Given the description of an element on the screen output the (x, y) to click on. 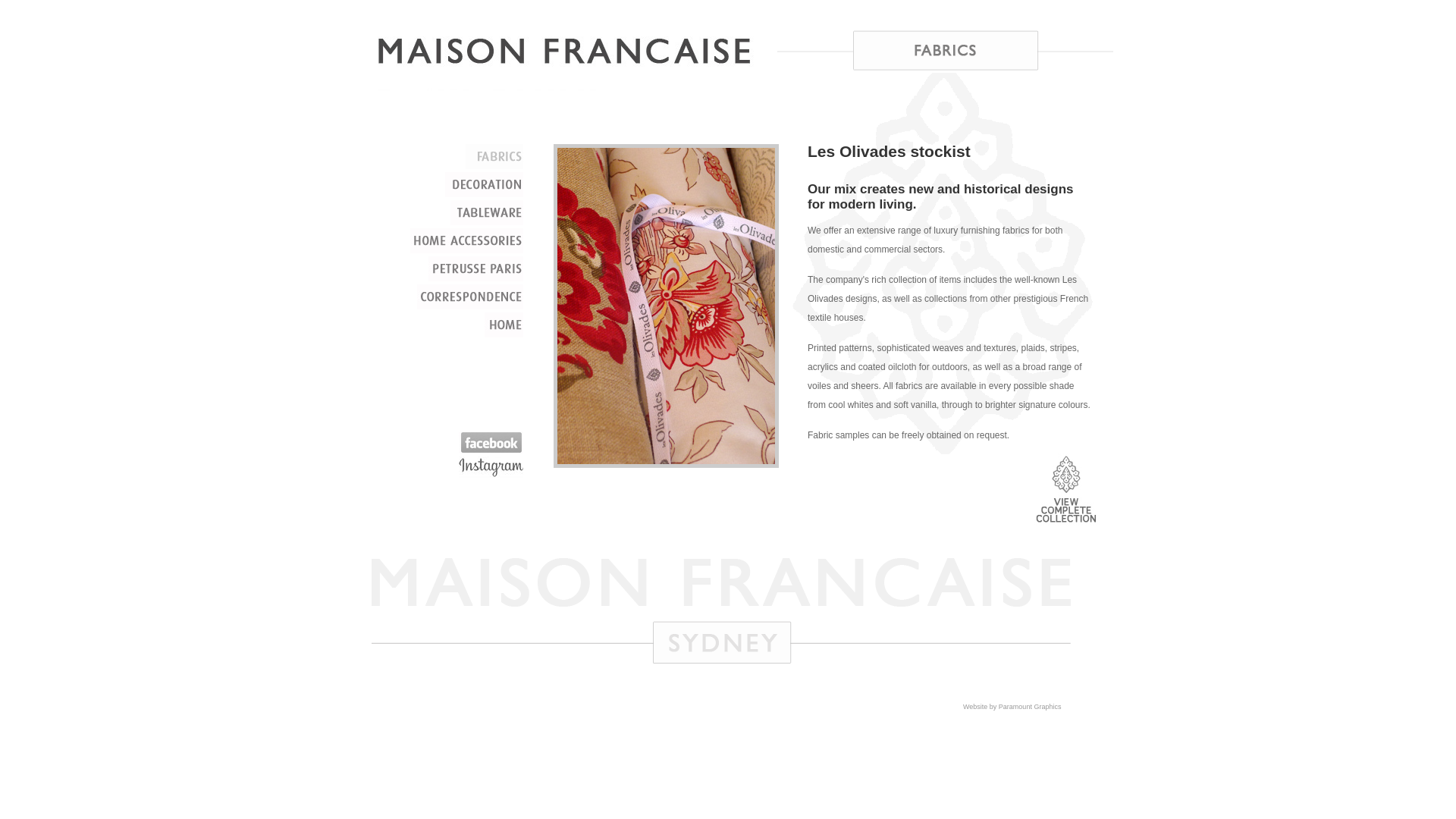
Paramount Graphics Element type: text (1029, 706)
